Given the description of an element on the screen output the (x, y) to click on. 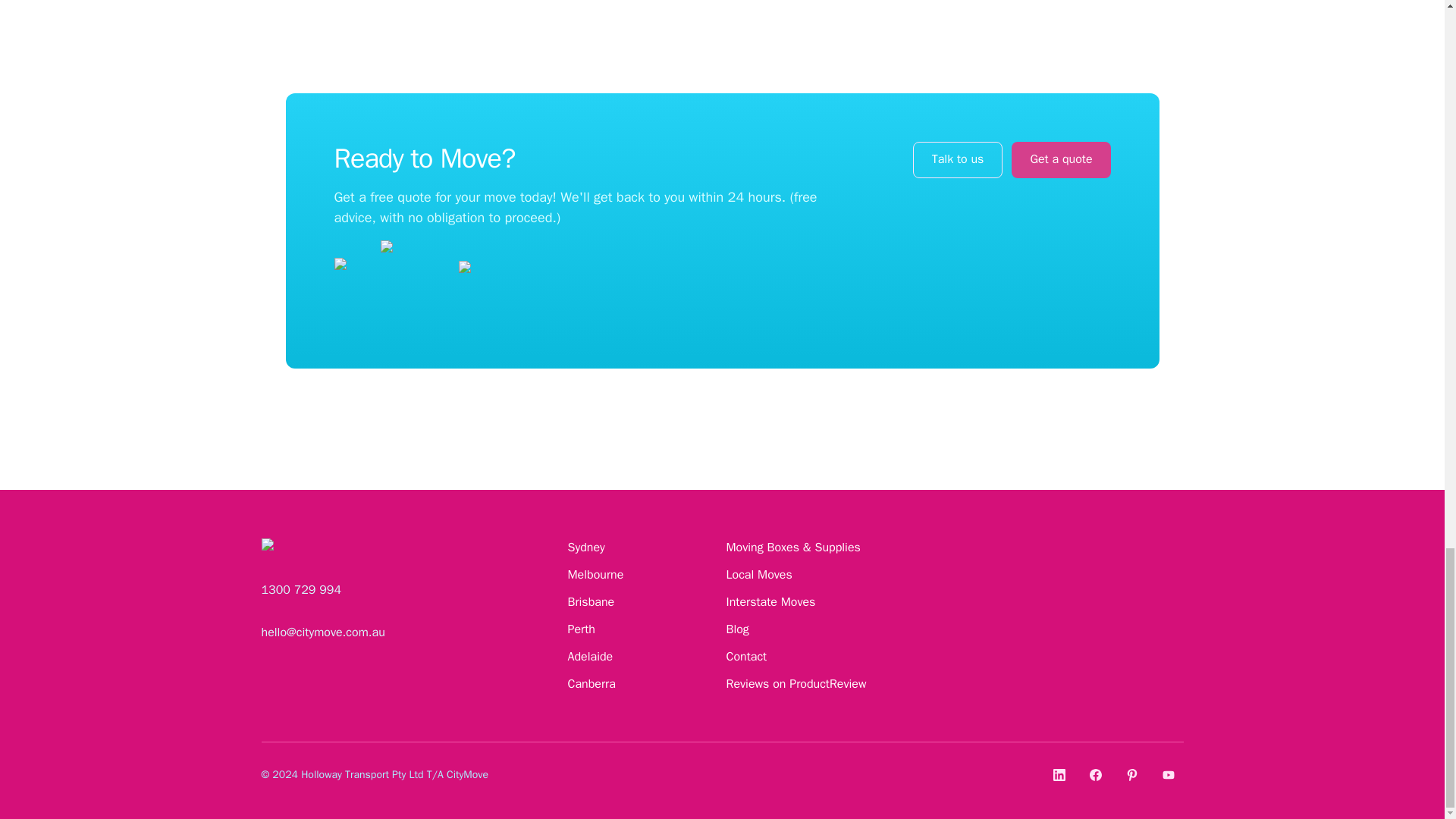
Sydney (585, 547)
Interstate Moves (770, 601)
Brisbane (590, 601)
Contact (746, 656)
Reviews on ProductReview (796, 683)
Get a quote (1060, 159)
1300 729 994 (300, 589)
Talk to us (957, 159)
Adelaide (589, 656)
Local Moves (759, 574)
Blog (737, 629)
Canberra (590, 683)
Holloway (321, 774)
Melbourne (595, 574)
Perth (580, 629)
